Given the description of an element on the screen output the (x, y) to click on. 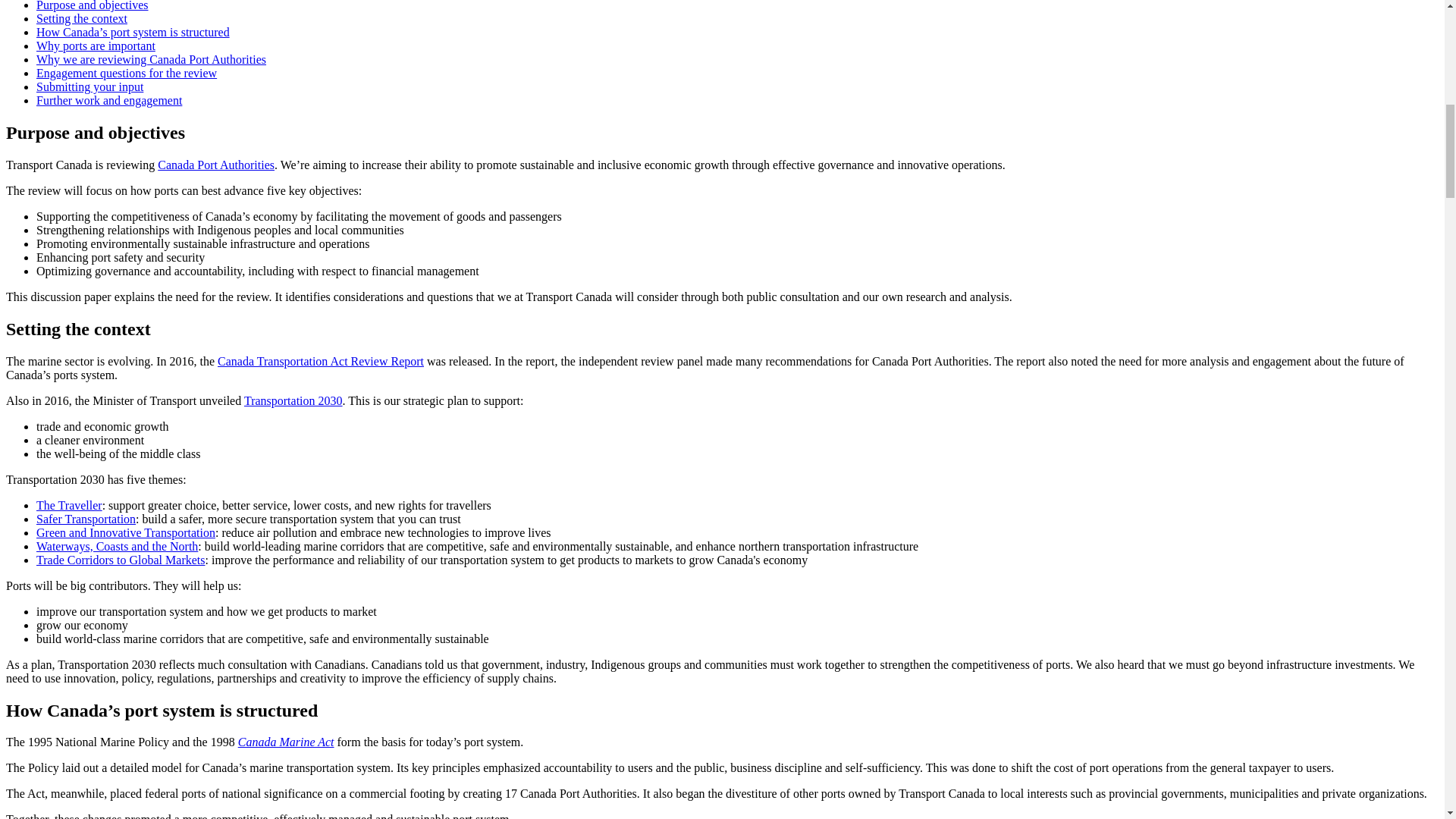
Transportation 2030: The Traveller (68, 504)
Why ports are important (95, 45)
Transportation 2030: Waterways, Coasts and the North (117, 545)
Canada Port Authorities (216, 164)
Canada Transportation Act Review Report (319, 360)
Transportation 2030: Green and Innovative Transportation (125, 532)
Why we are reviewing Canada Port Authorities (151, 59)
Submitting your input (89, 86)
List of Canada Port Authorities (216, 164)
Transportation 2030: Trade Corridors to Global Markets (120, 559)
Purpose and objectives (92, 5)
Canada Transportation Act Review - Report (319, 360)
Further work and engagement (109, 100)
Transportation 2030 (293, 400)
